Given the description of an element on the screen output the (x, y) to click on. 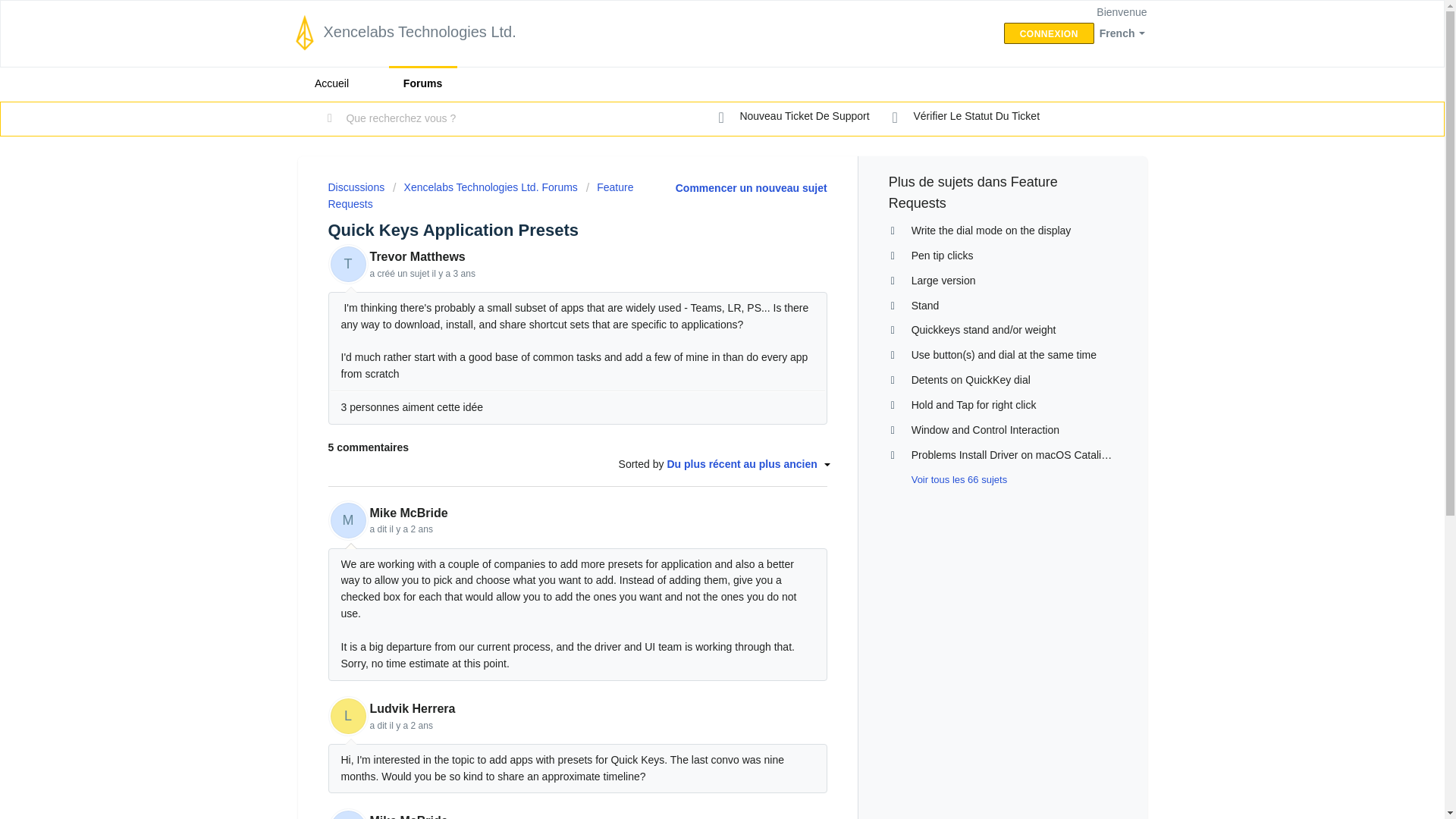
Commencer un nouveau sujet (751, 187)
Xencelabs Technologies Ltd. Forums (485, 186)
Discussions (355, 186)
Stand (925, 304)
Voir tous les 66 sujets (947, 479)
Detents on QuickKey dial (970, 379)
Hold and Tap for right click (973, 404)
Pen tip clicks (942, 255)
Window and Control Interaction (985, 429)
CONNEXION (1049, 33)
